Given the description of an element on the screen output the (x, y) to click on. 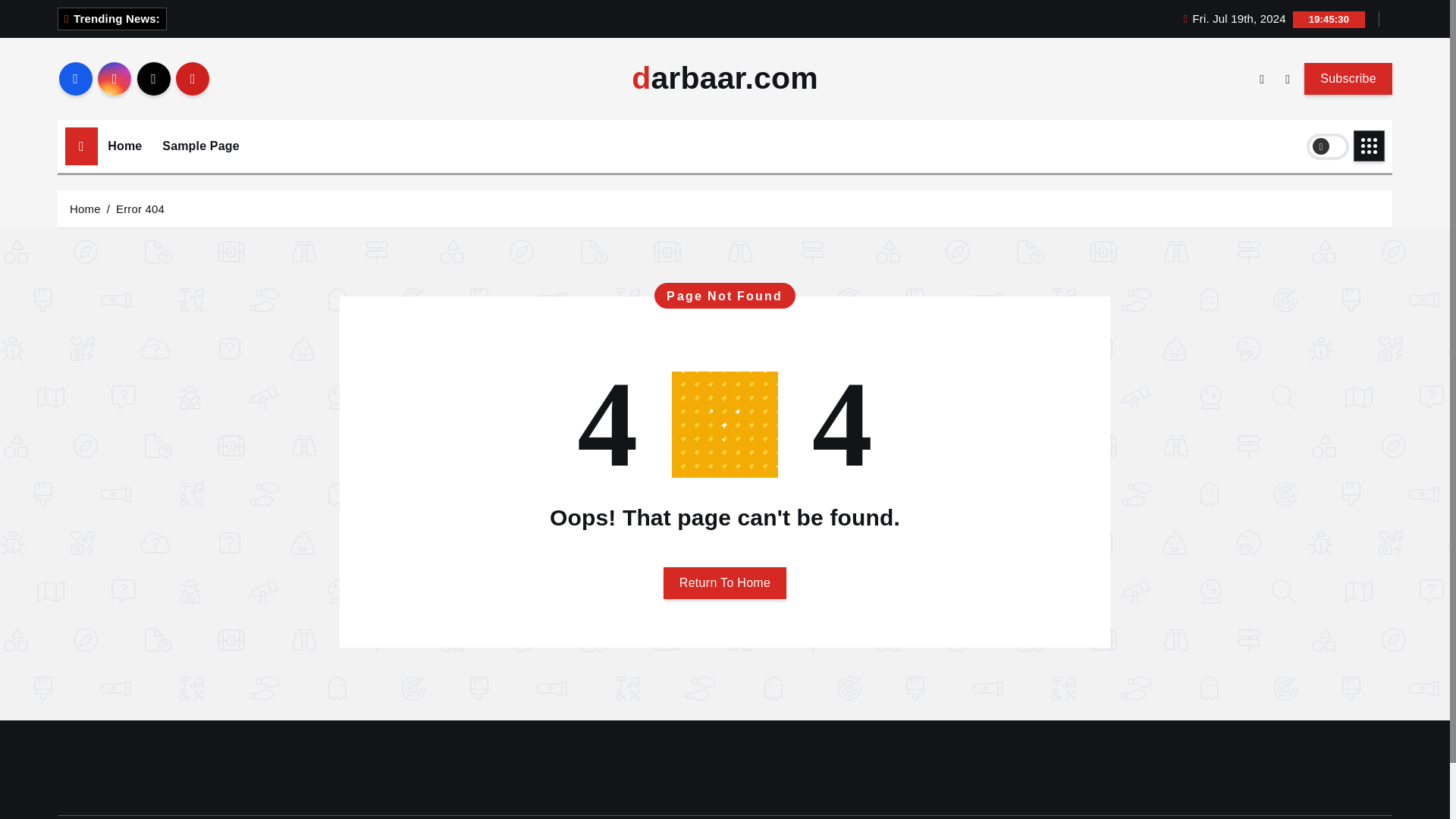
Home (84, 207)
Error 404 (140, 207)
Subscribe (1347, 78)
Home (124, 146)
Return To Home (724, 582)
Home (124, 146)
darbaar.com (724, 78)
Sample Page (200, 146)
